Given the description of an element on the screen output the (x, y) to click on. 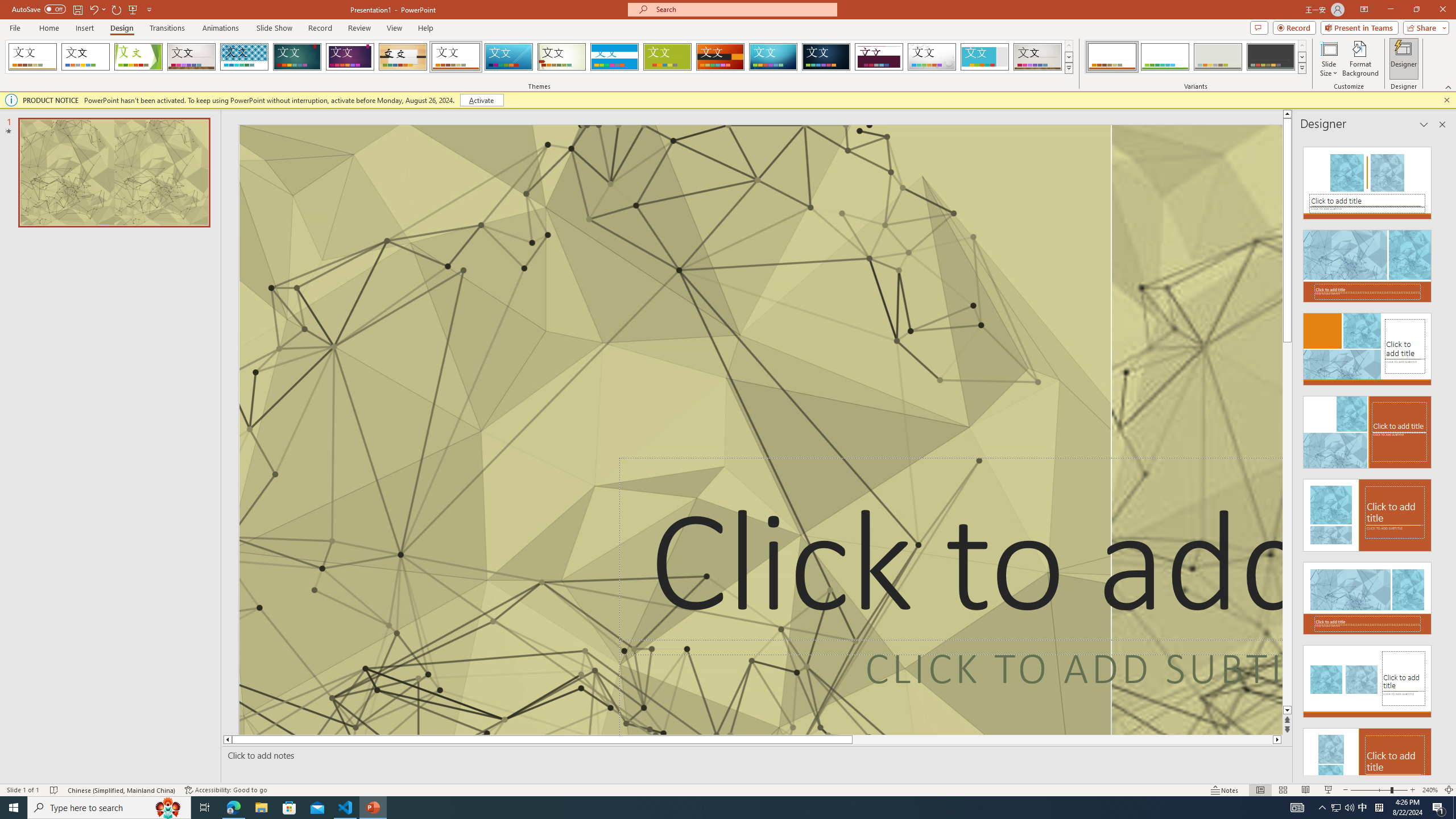
Frame (984, 56)
Wisp (561, 56)
FadeVTI (32, 56)
Banded (614, 56)
Subtitle TextBox (950, 686)
